Given the description of an element on the screen output the (x, y) to click on. 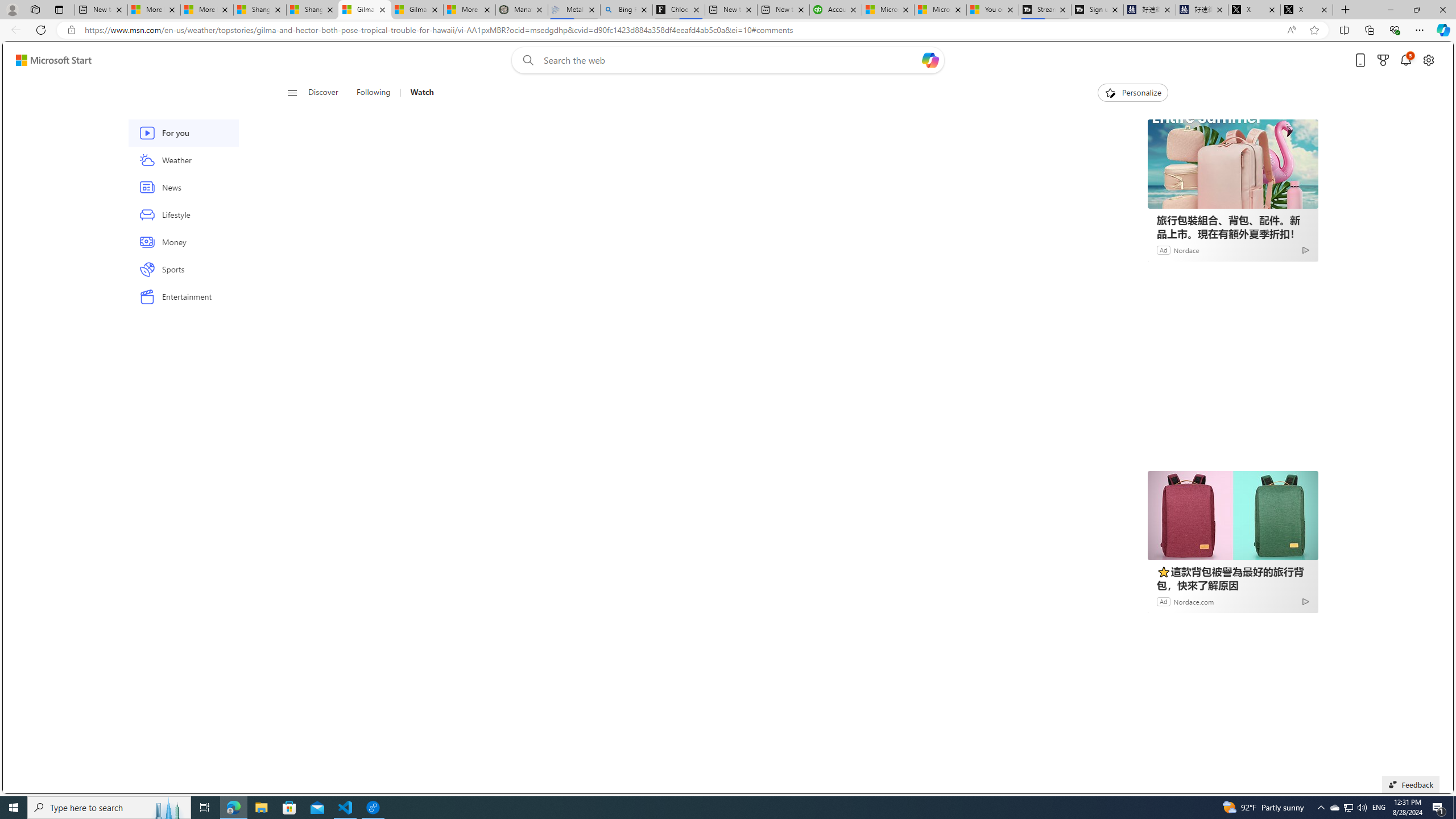
Class: button-glyph (292, 92)
Enter your search term (730, 59)
Skip to footer (46, 59)
